Given the description of an element on the screen output the (x, y) to click on. 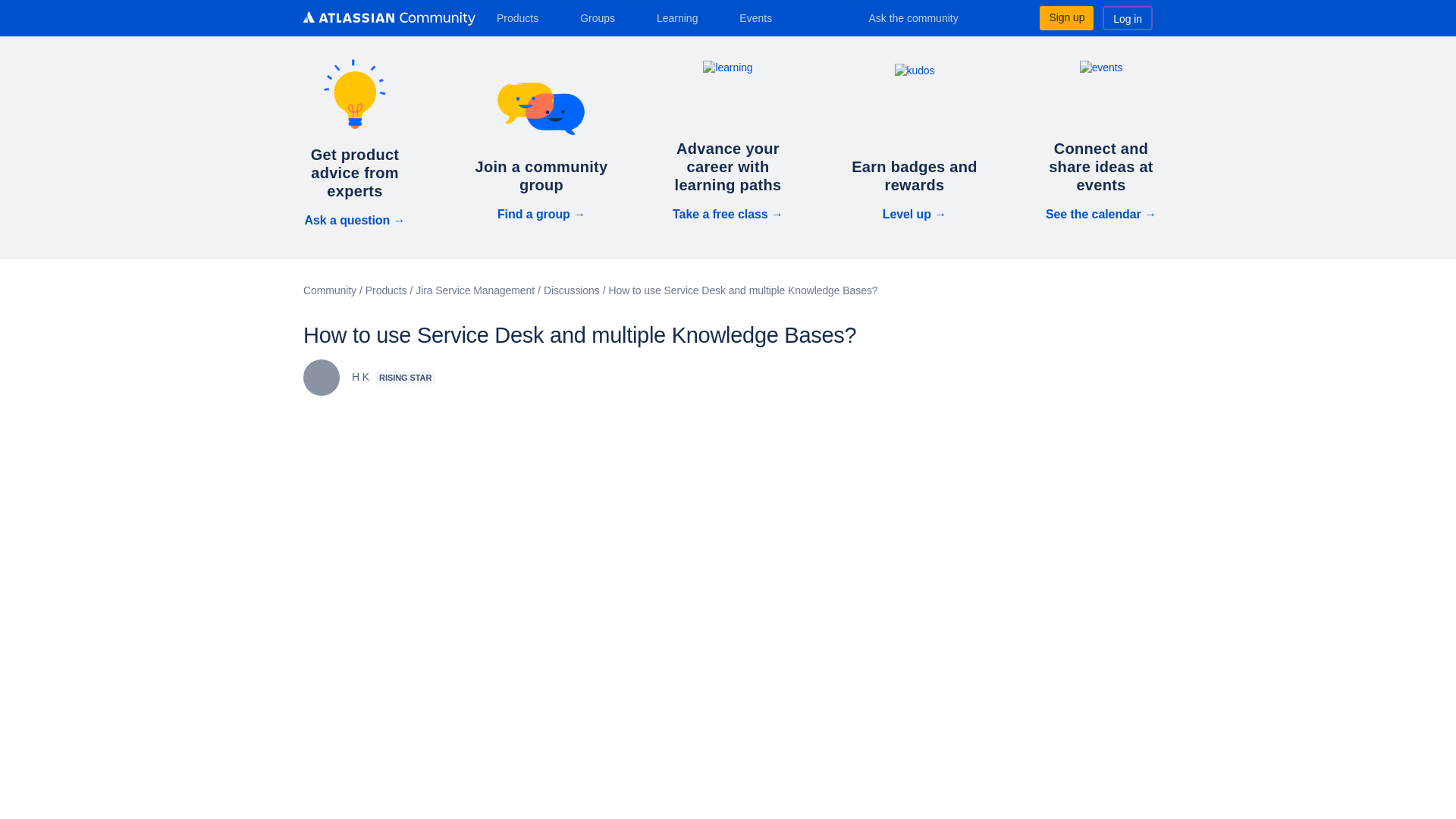
Sign up (1066, 17)
H K (320, 377)
Atlassian Community logo (389, 19)
Products (523, 17)
Ask the community  (923, 17)
Groups (602, 17)
Learning (682, 17)
Atlassian Community logo (389, 18)
Events (761, 17)
Log in (1127, 17)
